Given the description of an element on the screen output the (x, y) to click on. 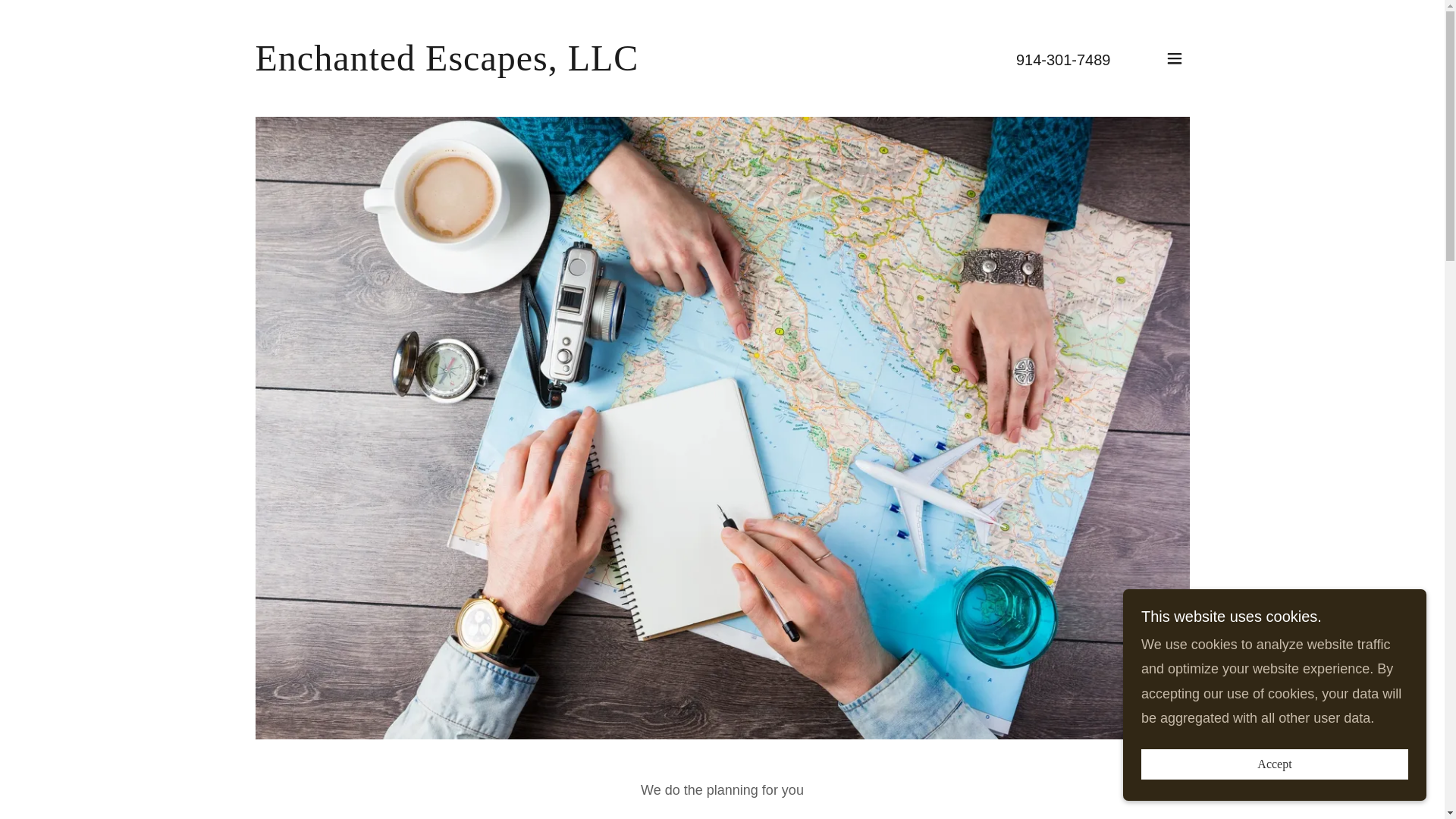
Accept (1274, 764)
Enchanted Escapes, LLC (446, 65)
Enchanted Escapes, LLC (446, 65)
914-301-7489 (1063, 59)
